Given the description of an element on the screen output the (x, y) to click on. 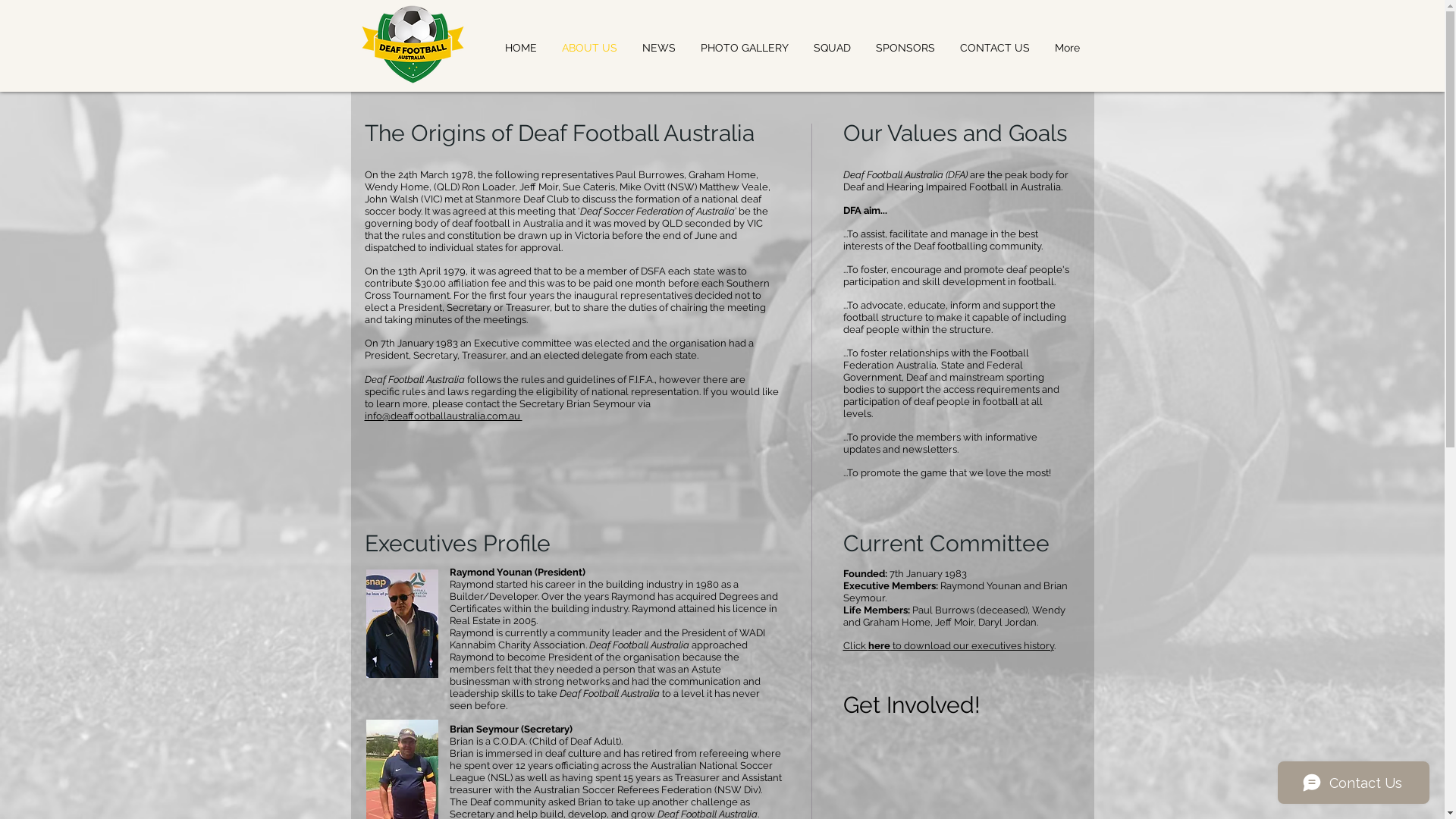
info@deaffootballaustralia.com.au  Element type: text (442, 415)
CONTACT US Element type: text (994, 47)
SQUAD Element type: text (831, 47)
HOME Element type: text (520, 47)
SPONSORS Element type: text (904, 47)
ABOUT US Element type: text (589, 47)
PHOTO GALLERY Element type: text (744, 47)
Click here to download our executives history Element type: text (948, 645)
NEWS Element type: text (658, 47)
